Given the description of an element on the screen output the (x, y) to click on. 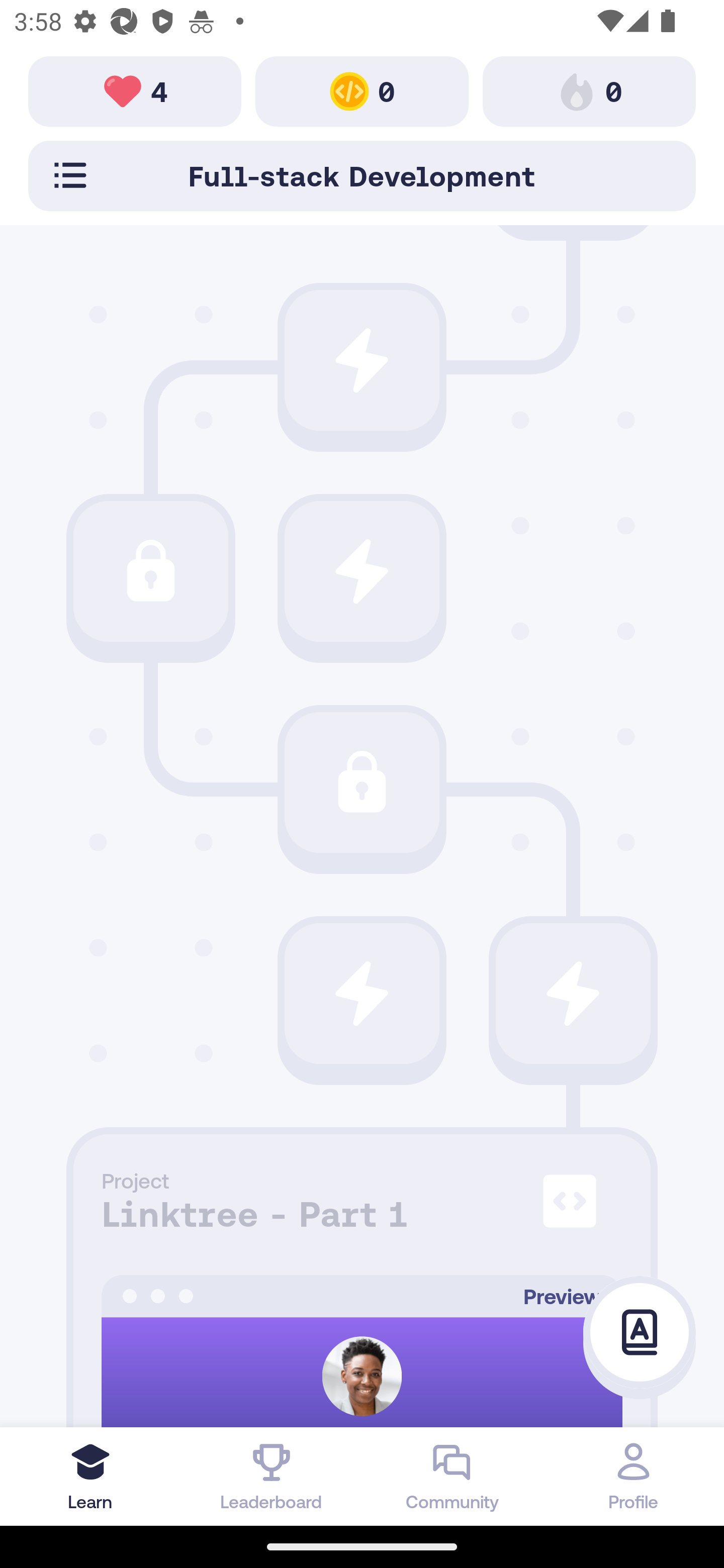
Path Toolbar Image 4 (134, 90)
Path Toolbar Image 0 (361, 90)
Path Toolbar Image 0 (588, 90)
Path Toolbar Selector Full-stack Development (361, 175)
Glossary Icon (639, 1332)
Leaderboard (271, 1475)
Community (452, 1475)
Profile (633, 1475)
